Given the description of an element on the screen output the (x, y) to click on. 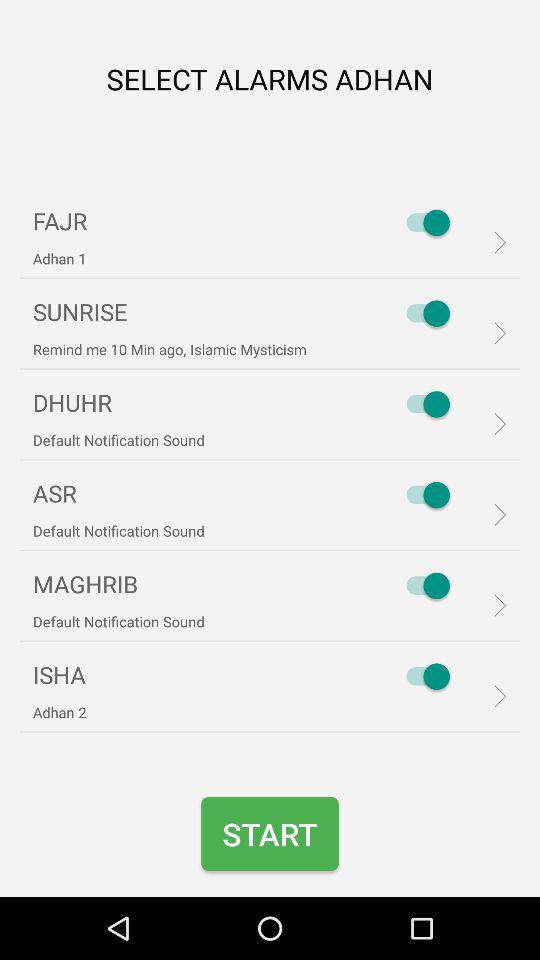
launch the item below default notification sound icon (269, 833)
